Given the description of an element on the screen output the (x, y) to click on. 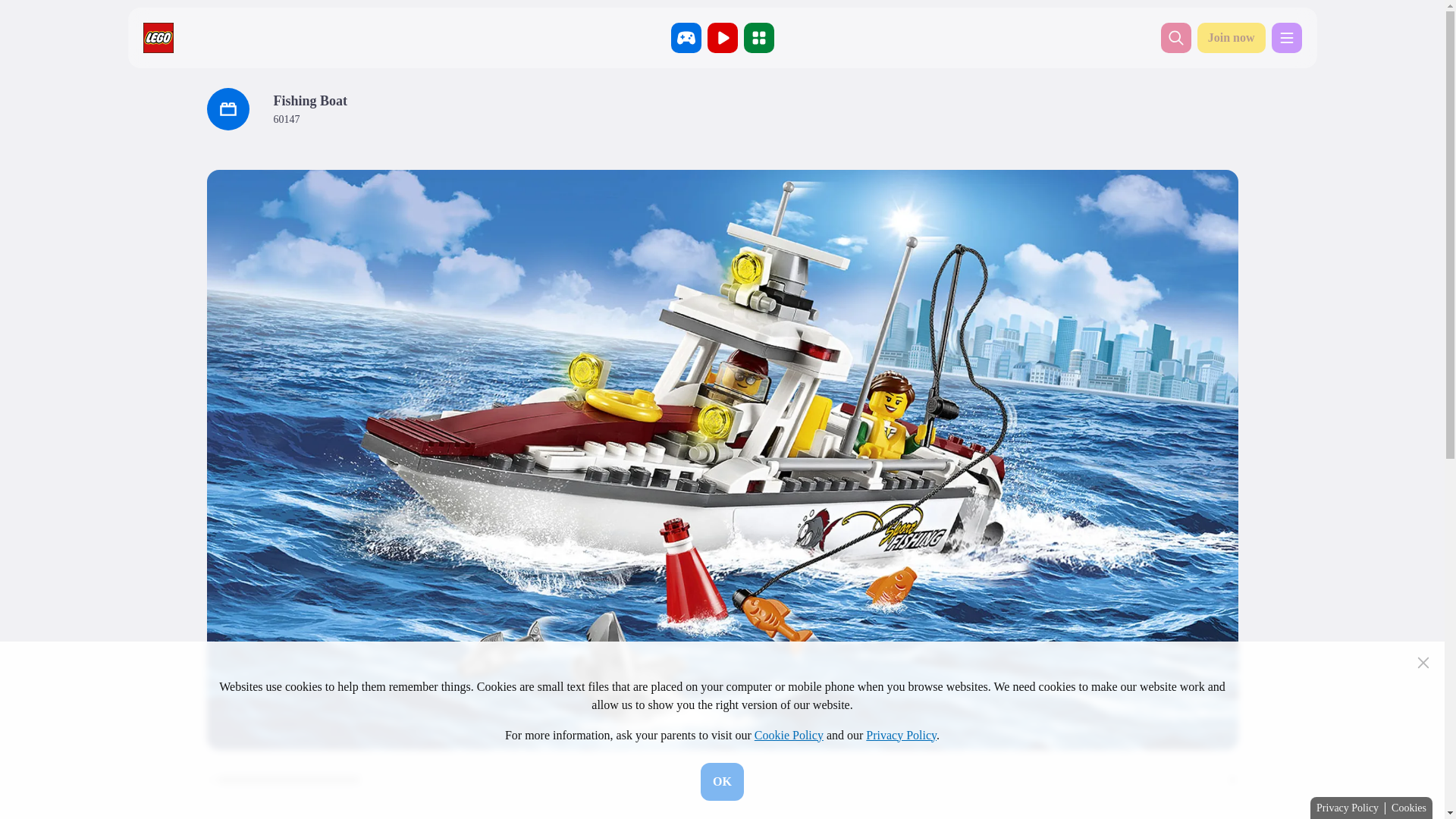
Videos (721, 37)
Themes (757, 37)
Privacy Policy (901, 735)
Privacy Policy (1347, 807)
Games (684, 37)
Join now (1230, 37)
Cookie Policy (789, 735)
What are you looking for? (1175, 37)
OK (722, 781)
Cookies (1408, 807)
